Given the description of an element on the screen output the (x, y) to click on. 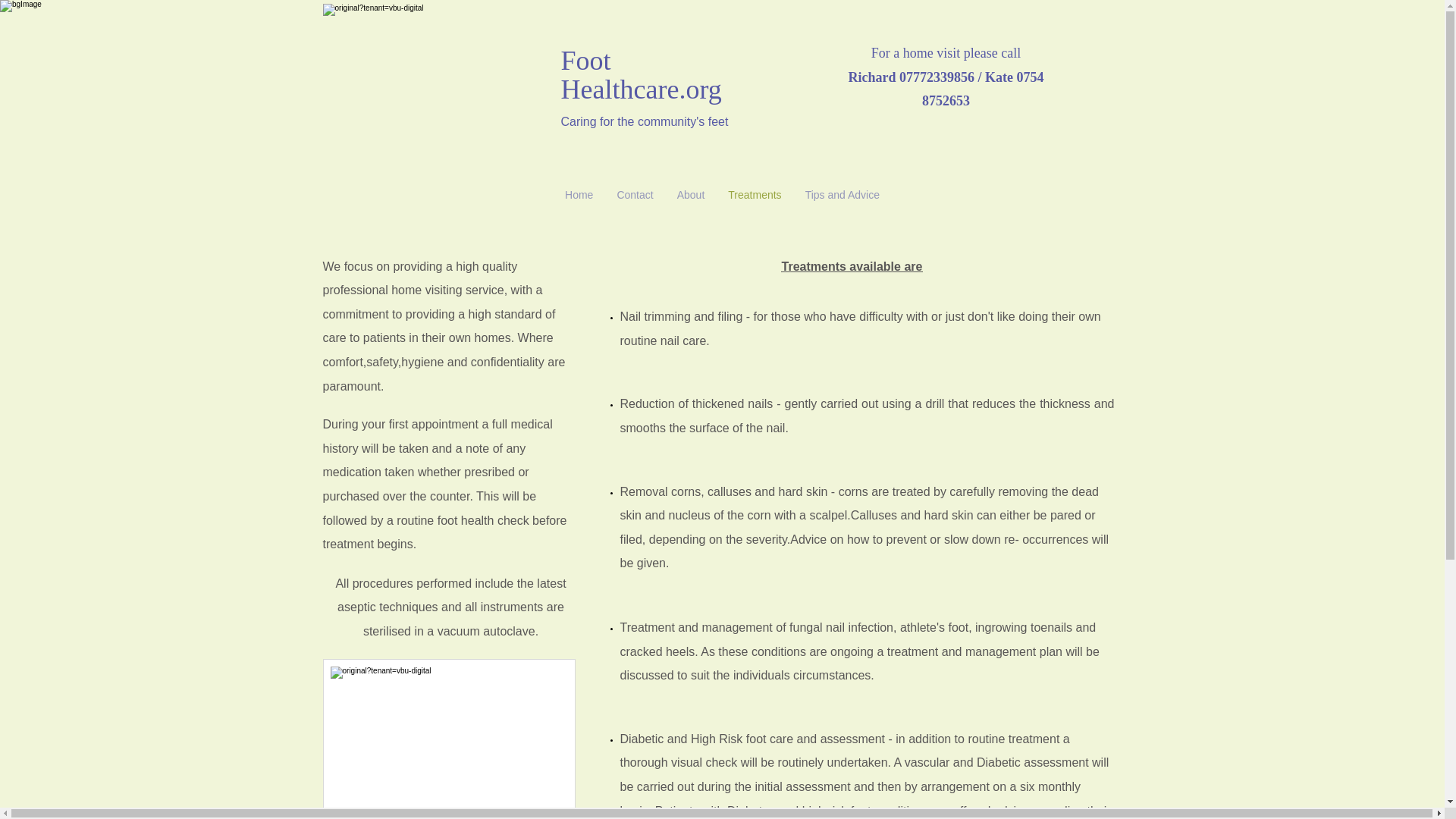
Contact (635, 194)
Home (579, 194)
Treatments (754, 194)
Tips and Advice (842, 194)
About (690, 194)
